Given the description of an element on the screen output the (x, y) to click on. 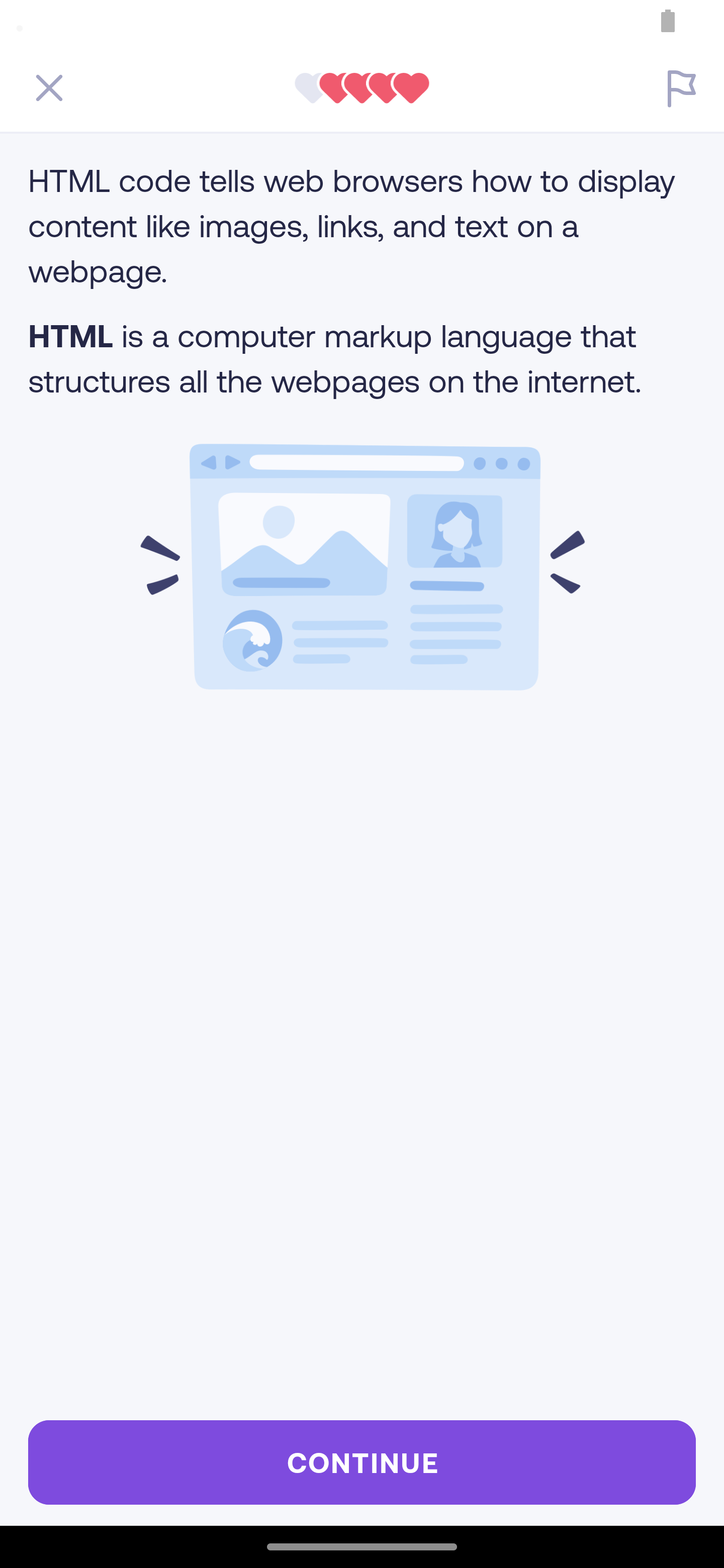
CONTINUE (361, 1462)
